Given the description of an element on the screen output the (x, y) to click on. 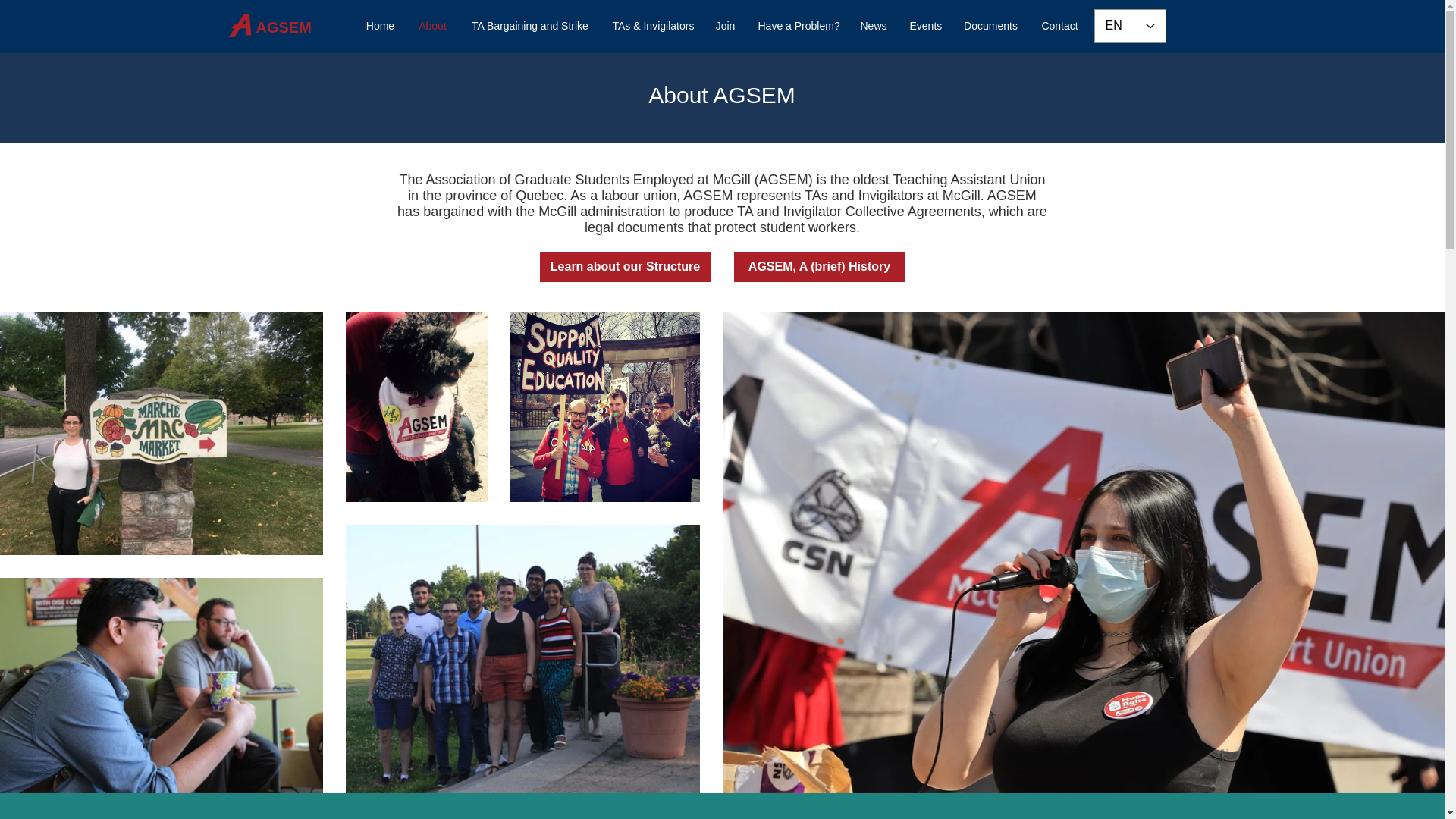
TA Bargaining and Strike (530, 26)
Home (380, 26)
About (433, 26)
Events (925, 26)
News (873, 26)
Join (724, 26)
Have a Problem? (796, 26)
AGSEM (283, 26)
Contact (1059, 26)
Documents (990, 26)
